Given the description of an element on the screen output the (x, y) to click on. 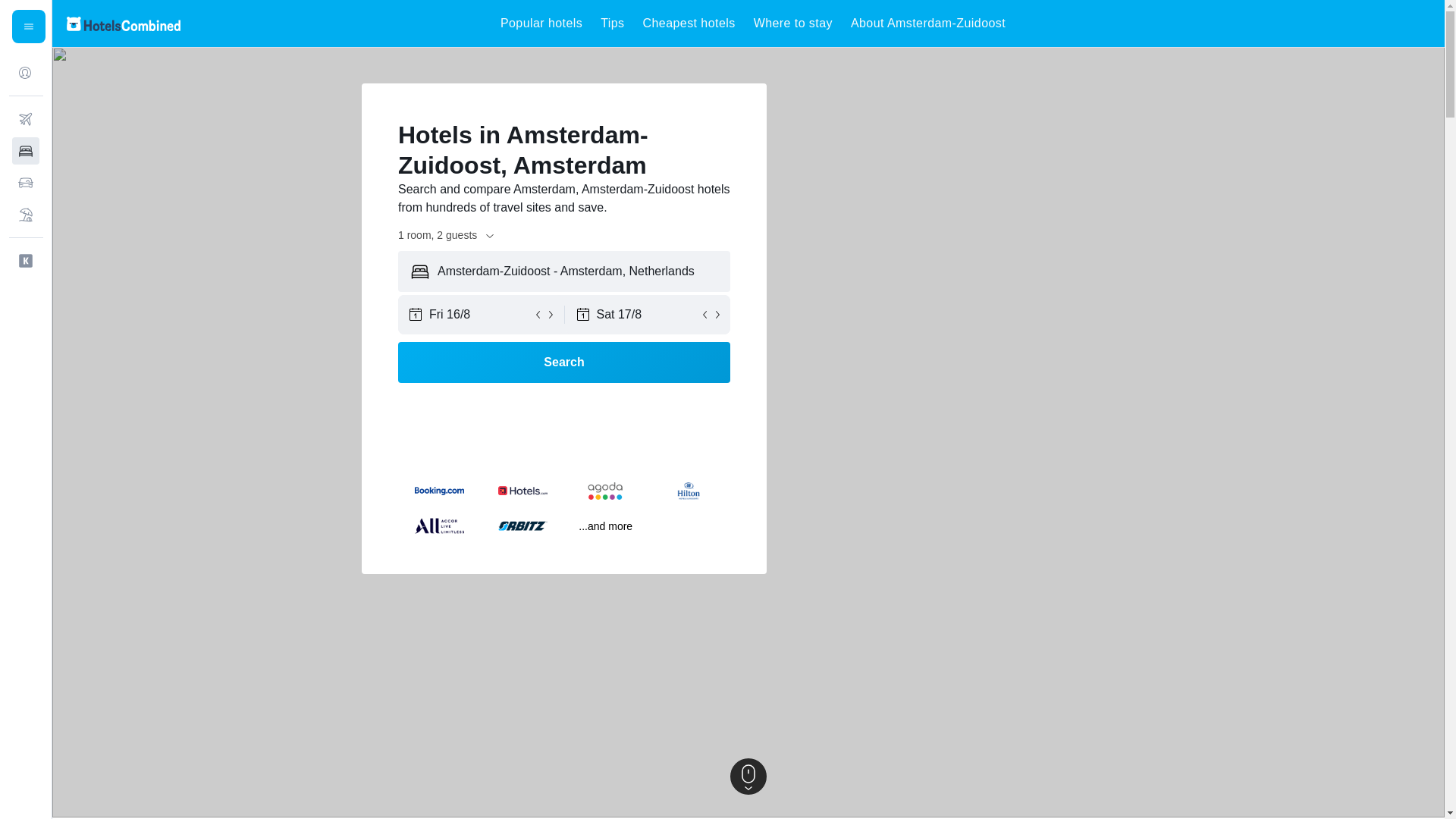
1 room, 2 guests (446, 235)
Search (563, 362)
Search (563, 362)
